Given the description of an element on the screen output the (x, y) to click on. 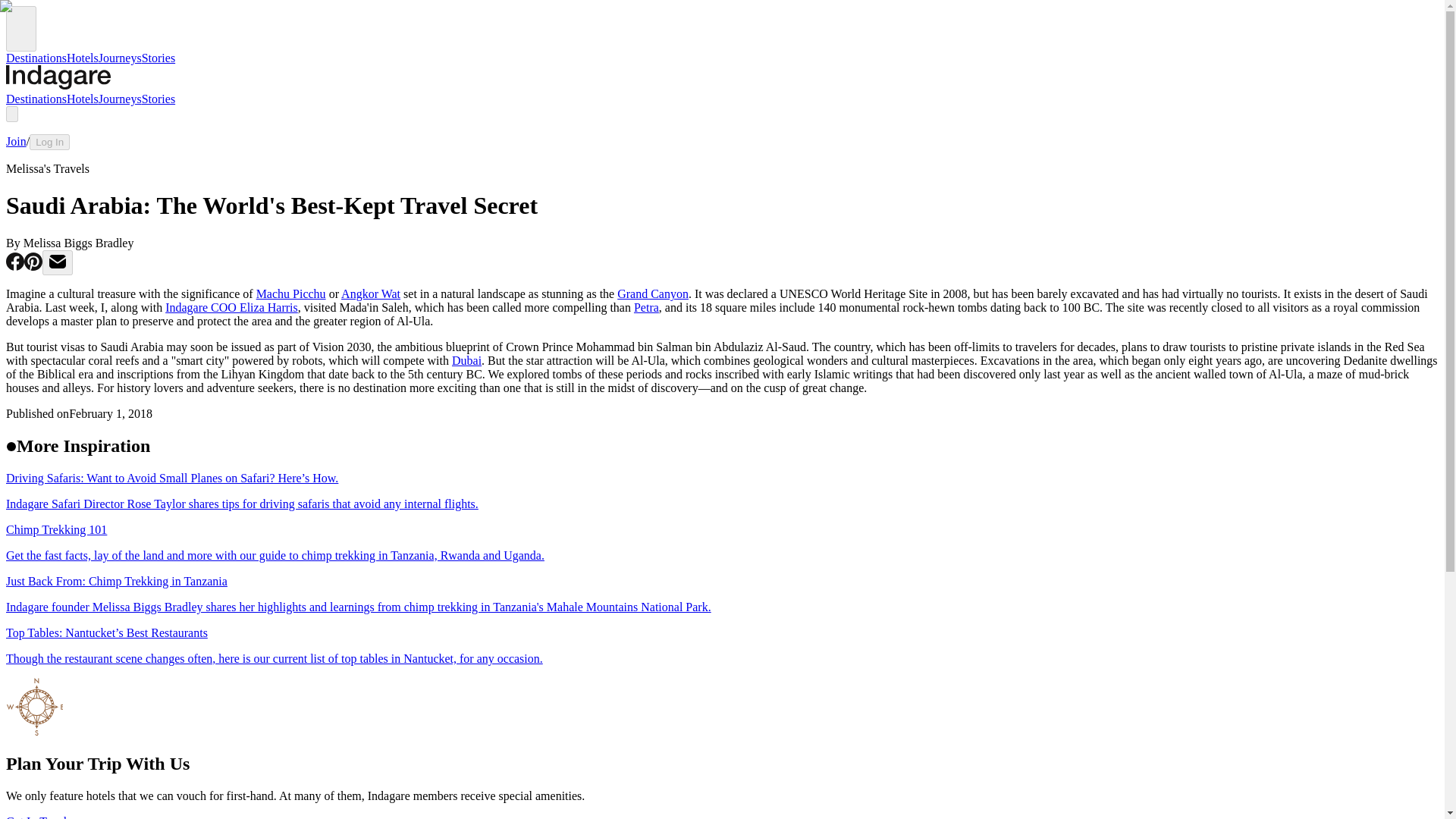
Hotels (82, 98)
Destinations (35, 98)
Share via Email (57, 262)
Journeys (120, 98)
Log In (49, 141)
Share via Pinterest (33, 266)
Dubai (466, 359)
Get In Touch (37, 816)
Join (15, 141)
Stories (157, 57)
Petra (646, 307)
Stories (157, 98)
Share via Facebook (14, 266)
Angkor Wat (370, 293)
Destinations (35, 57)
